Given the description of an element on the screen output the (x, y) to click on. 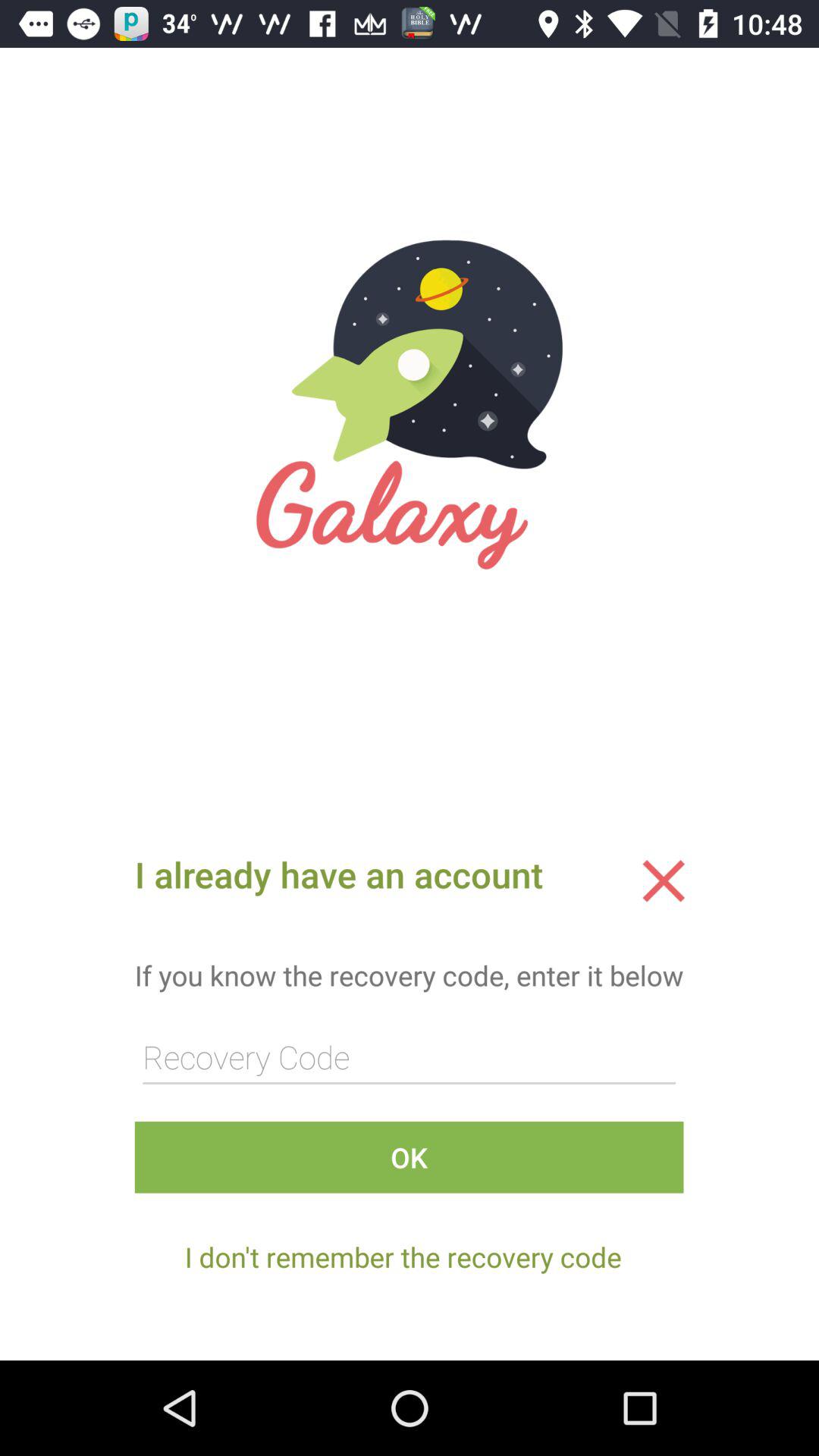
swipe to ok (408, 1157)
